Given the description of an element on the screen output the (x, y) to click on. 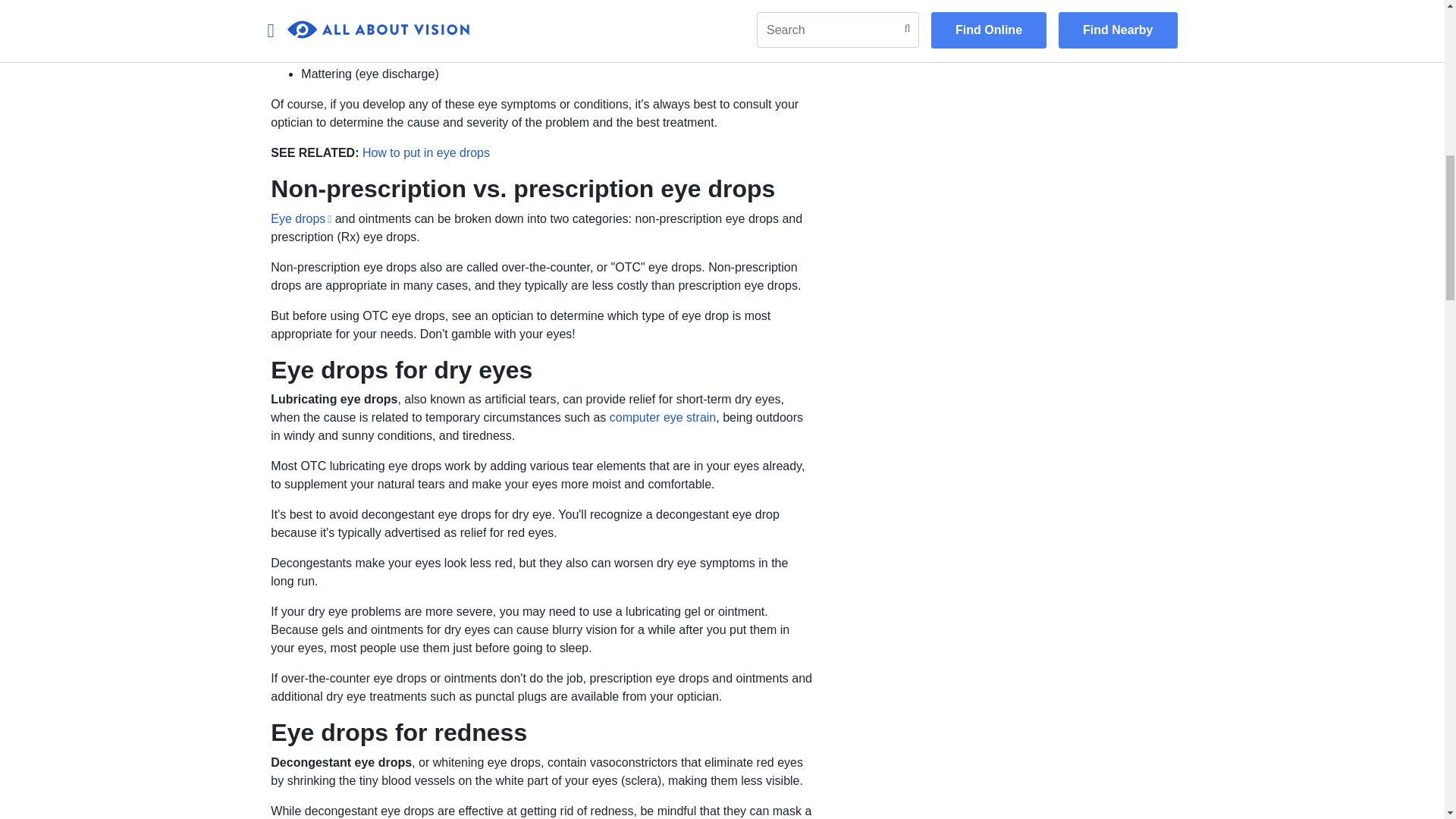
How to put in eye drops (425, 152)
Eye drops (300, 218)
computer eye strain (663, 417)
